Given the description of an element on the screen output the (x, y) to click on. 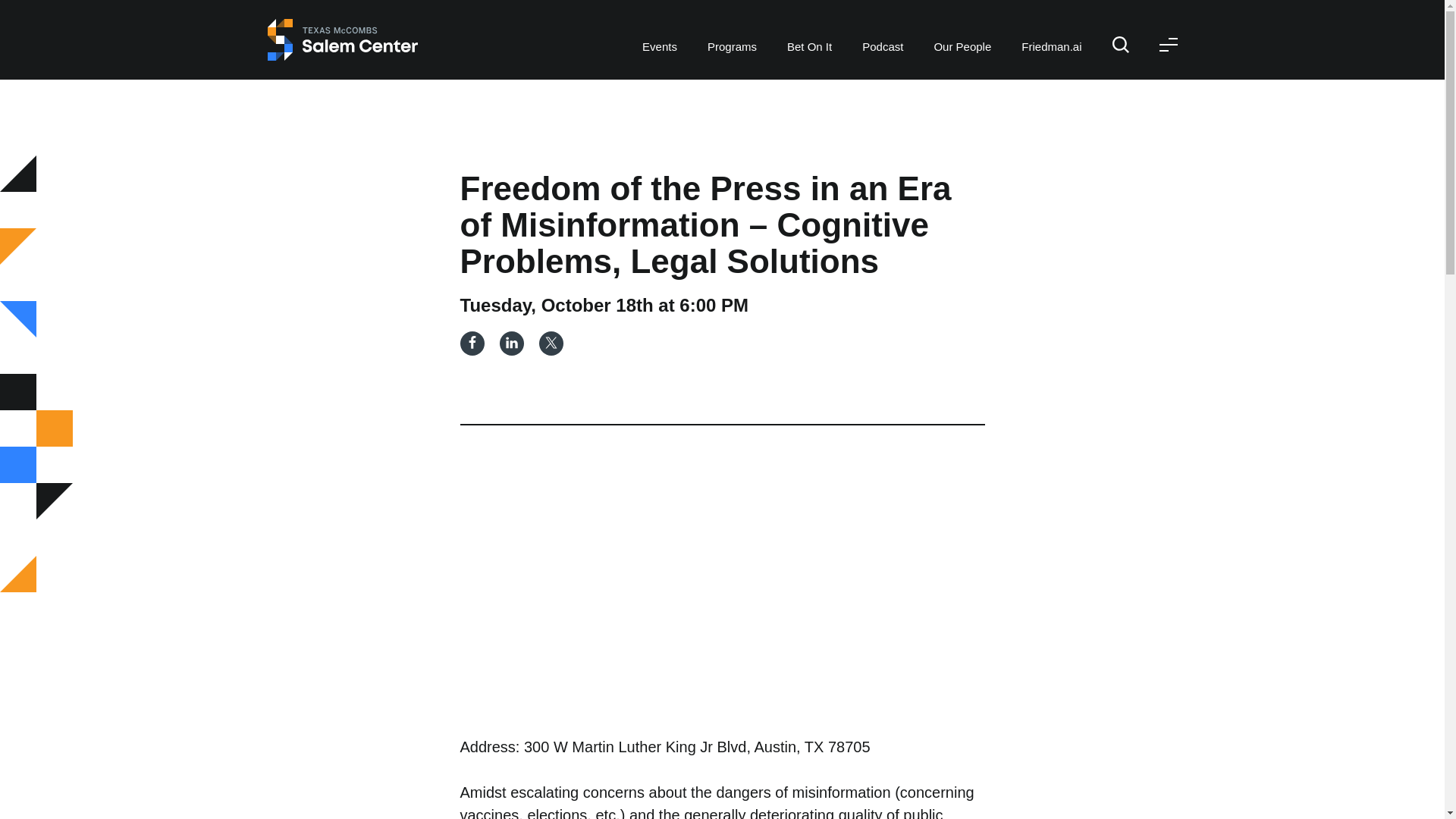
Friedman.ai (1051, 28)
Our People (962, 28)
Share on Twitter (550, 343)
Share on LinkedIn (510, 343)
Share on Facebook (471, 343)
